Given the description of an element on the screen output the (x, y) to click on. 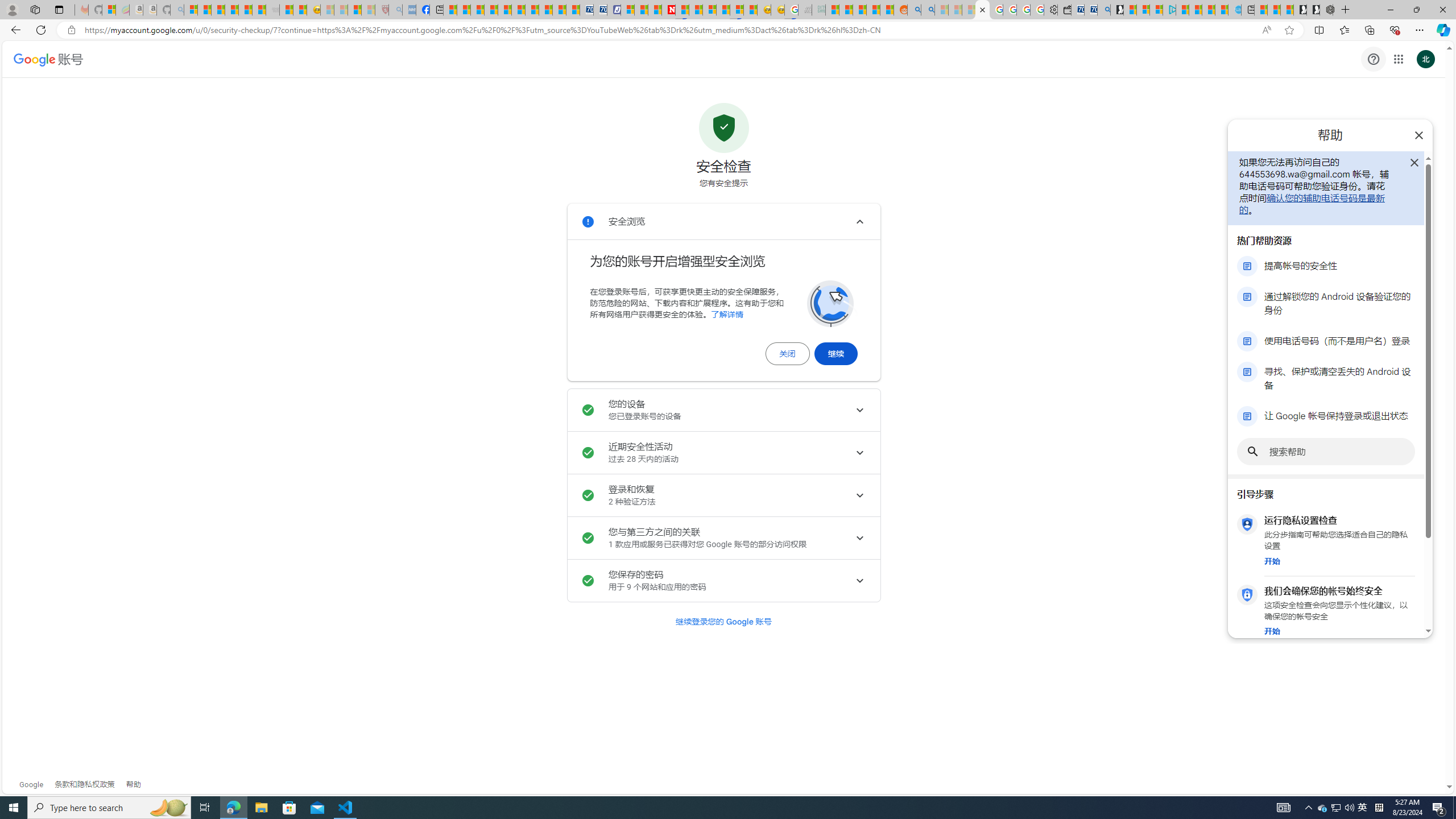
Stocks - MSN (258, 9)
Home | Sky Blue Bikes - Sky Blue Bikes (1234, 9)
MSNBC - MSN (832, 9)
Cheap Hotels - Save70.com (599, 9)
Nordace - Nordace Siena Is Not An Ordinary Backpack (1326, 9)
Microsoft Start - Sleeping (941, 9)
Robert H. Shmerling, MD - Harvard Health - Sleeping (381, 9)
Combat Siege - Sleeping (271, 9)
